Given the description of an element on the screen output the (x, y) to click on. 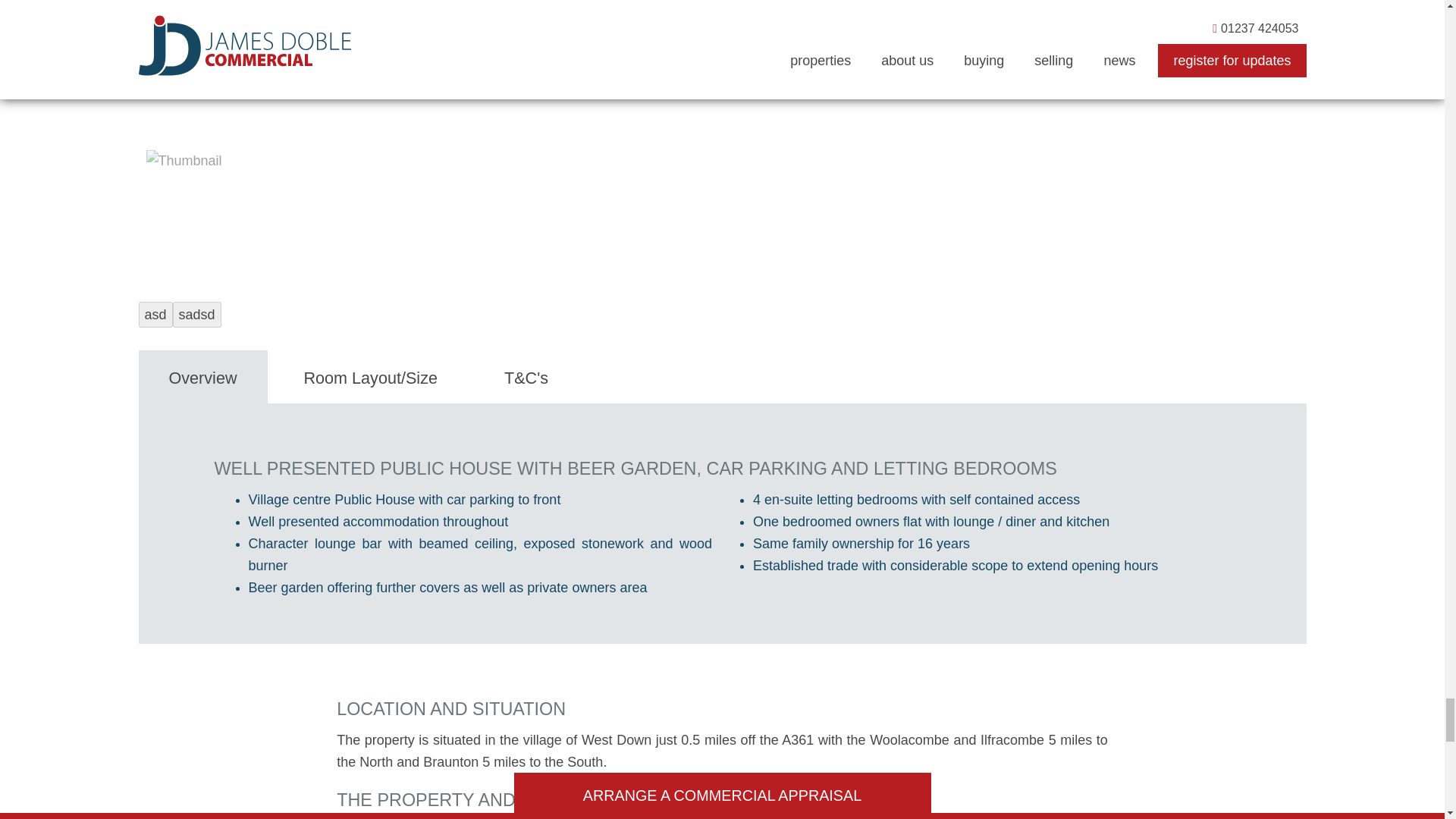
asd (154, 315)
sadsd (197, 315)
